Given the description of an element on the screen output the (x, y) to click on. 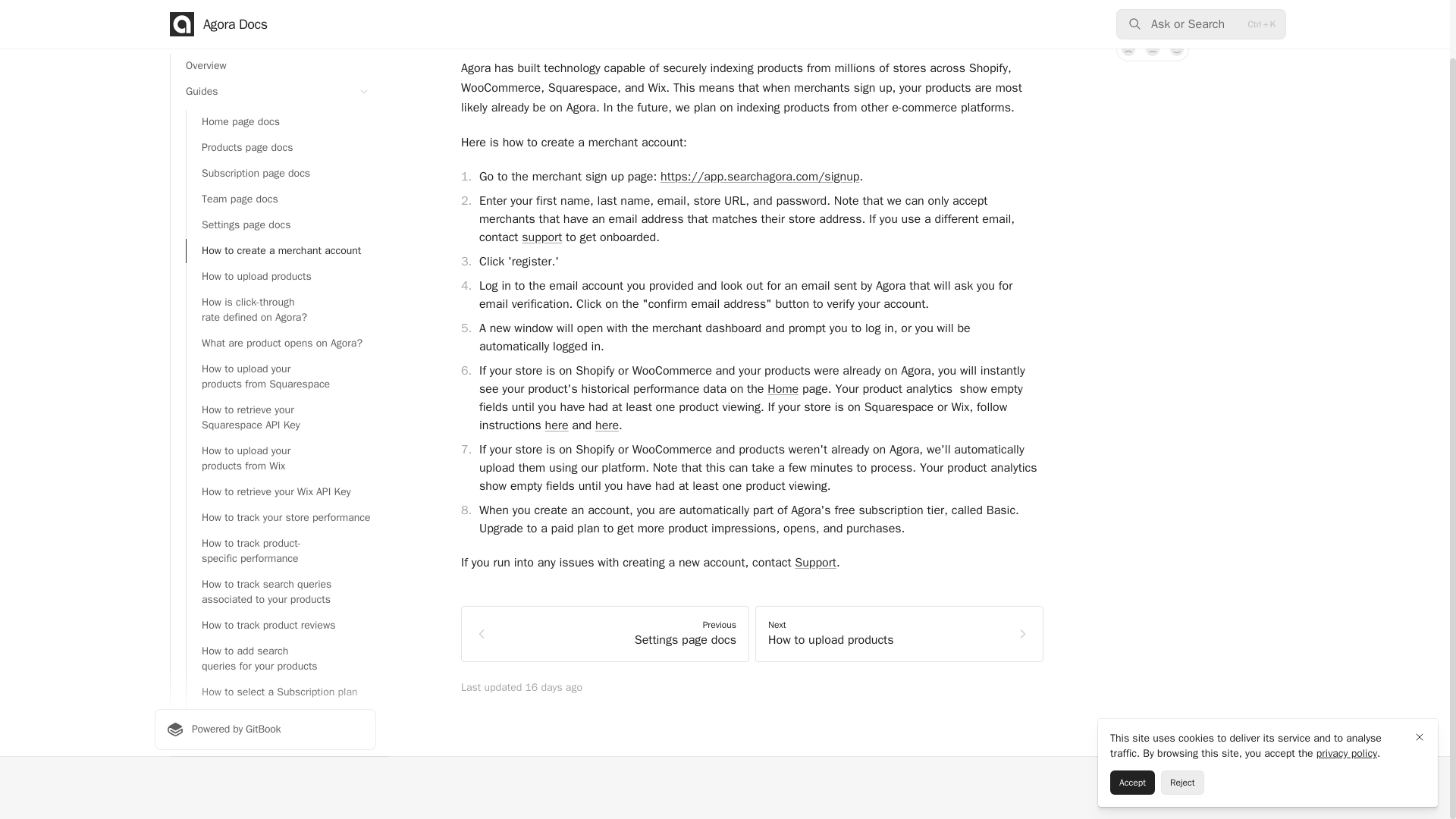
Why upgrade to a Subscription plan (280, 717)
How is Agora different from Google advertising? (280, 751)
How to add search queries for your products (280, 658)
How to create a merchant account (280, 250)
No (1128, 48)
How to retrieve your Wix API Key (280, 491)
How is click-through rate defined on Agora? (280, 310)
Merchants (264, 35)
How to track product-specific performance (280, 550)
How to select a Subscription plan (280, 692)
Yes, it was! (1176, 48)
How to retrieve your Squarespace API Key (280, 417)
Introduction (264, 11)
How to track product reviews (280, 625)
Close (1419, 674)
